Given the description of an element on the screen output the (x, y) to click on. 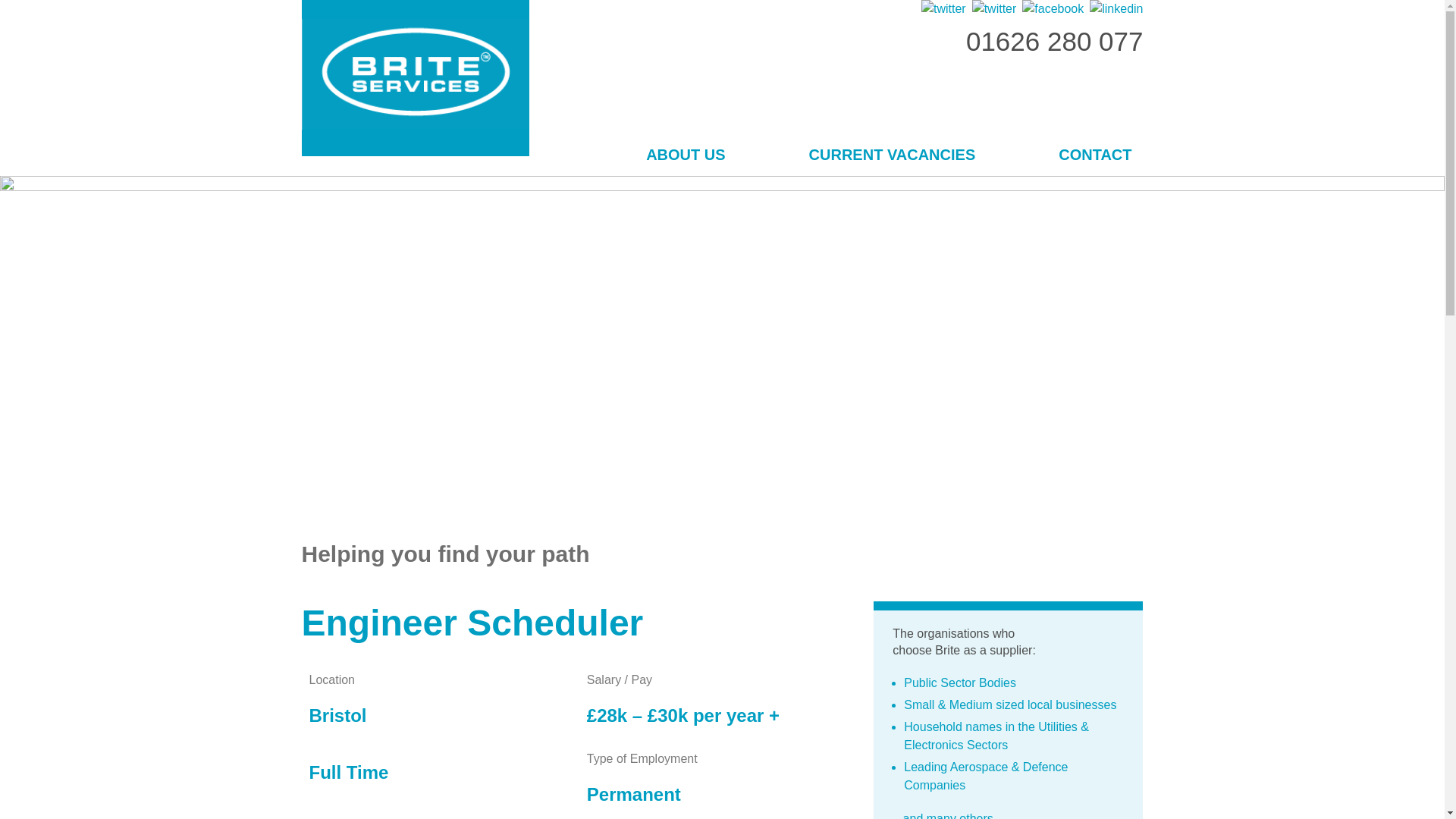
ABOUT US (685, 156)
About Us (685, 156)
CONTACT (1094, 156)
Contact (1094, 156)
CURRENT VACANCIES (892, 156)
Current Vacancies (892, 156)
